Given the description of an element on the screen output the (x, y) to click on. 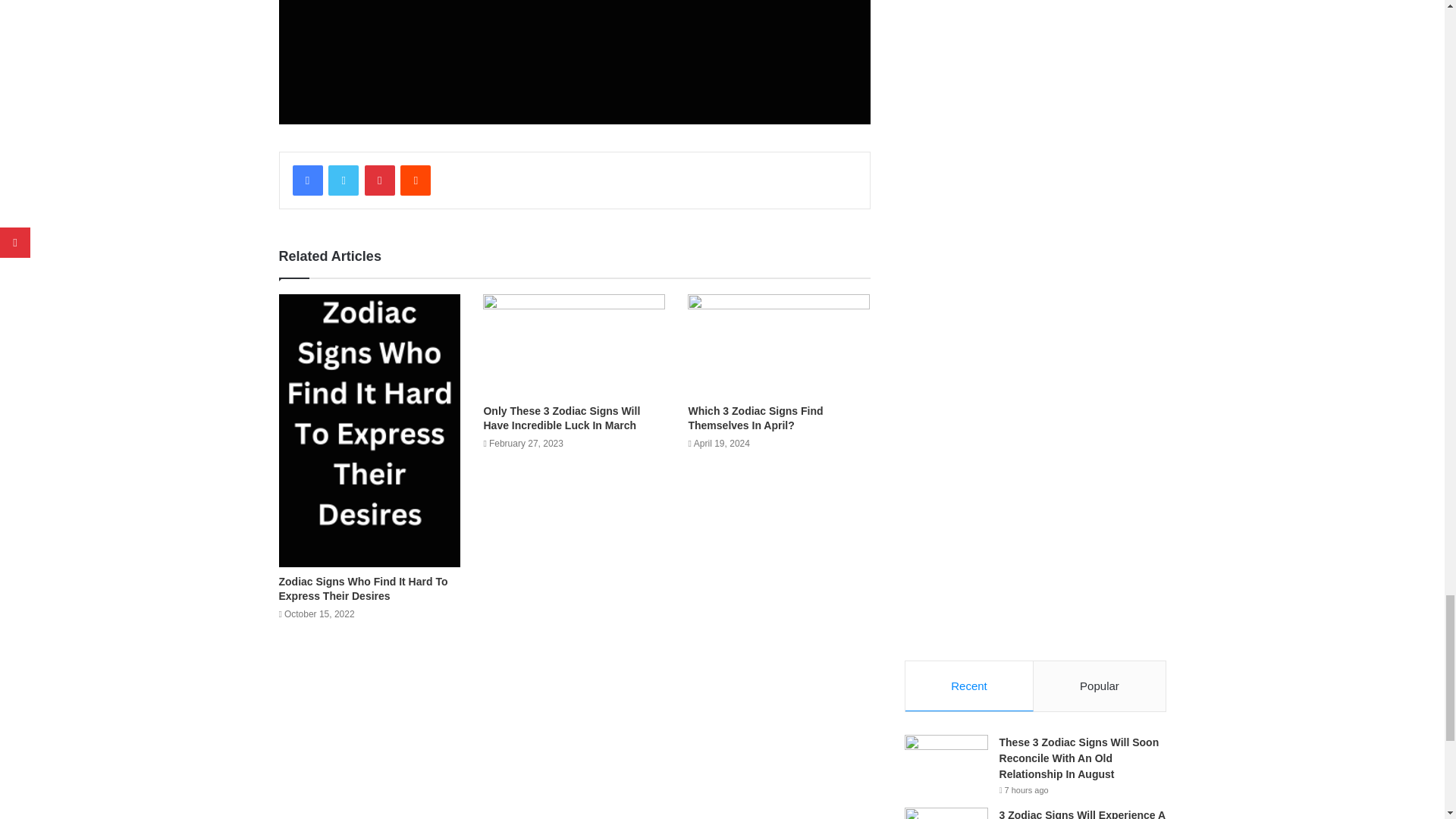
Twitter (343, 180)
Pinterest (379, 180)
Twitter (343, 180)
Only These 3 Zodiac Signs Will Have Incredible Luck In March (561, 417)
Facebook (307, 180)
Pinterest (379, 180)
Reddit (415, 180)
Zodiac Signs Who Find It Hard To Express Their Desires (363, 588)
Which 3 Zodiac Signs Find Themselves In April? (754, 417)
Facebook (307, 180)
